Given the description of an element on the screen output the (x, y) to click on. 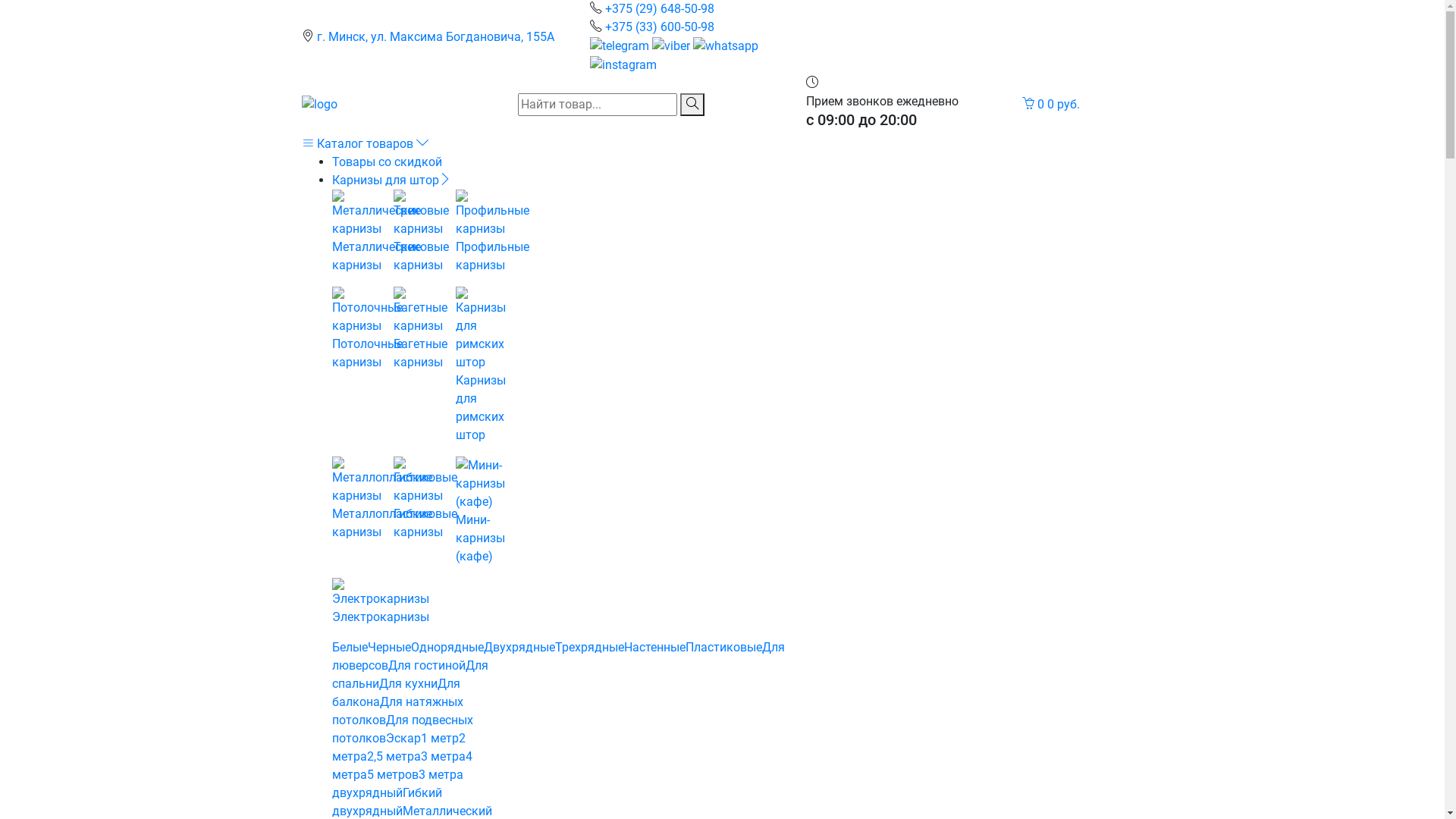
+375 (33) 600-50-98 Element type: text (659, 26)
+375 (29) 648-50-98 Element type: text (659, 8)
